Given the description of an element on the screen output the (x, y) to click on. 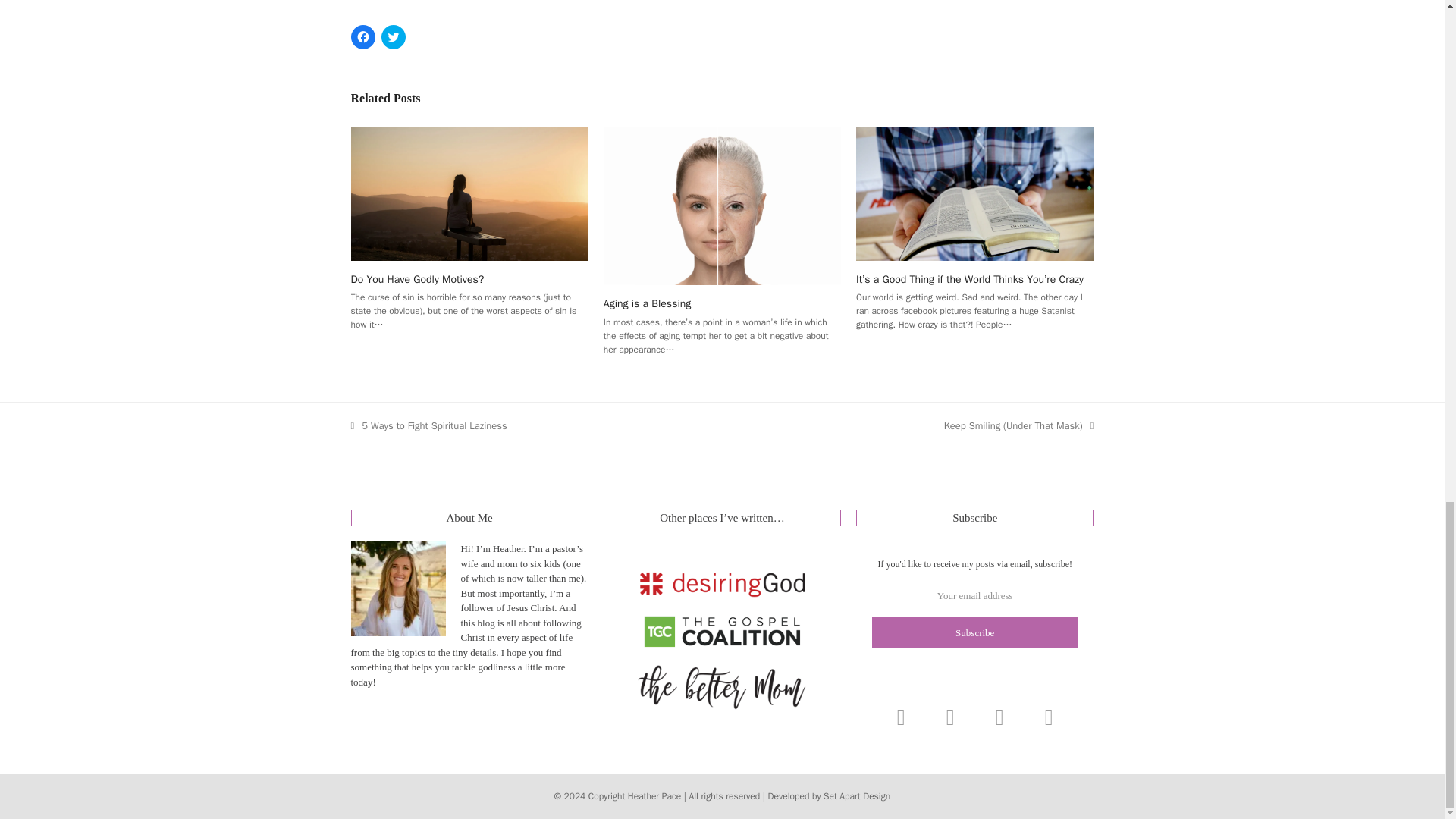
Do You Have Godly Motives? (469, 192)
Click to share on Twitter (392, 37)
Click to share on Facebook (362, 37)
Twitter (949, 717)
Instagram (900, 717)
Facebook (999, 717)
Aging is a Blessing (722, 205)
Pinterest (1048, 717)
